Given the description of an element on the screen output the (x, y) to click on. 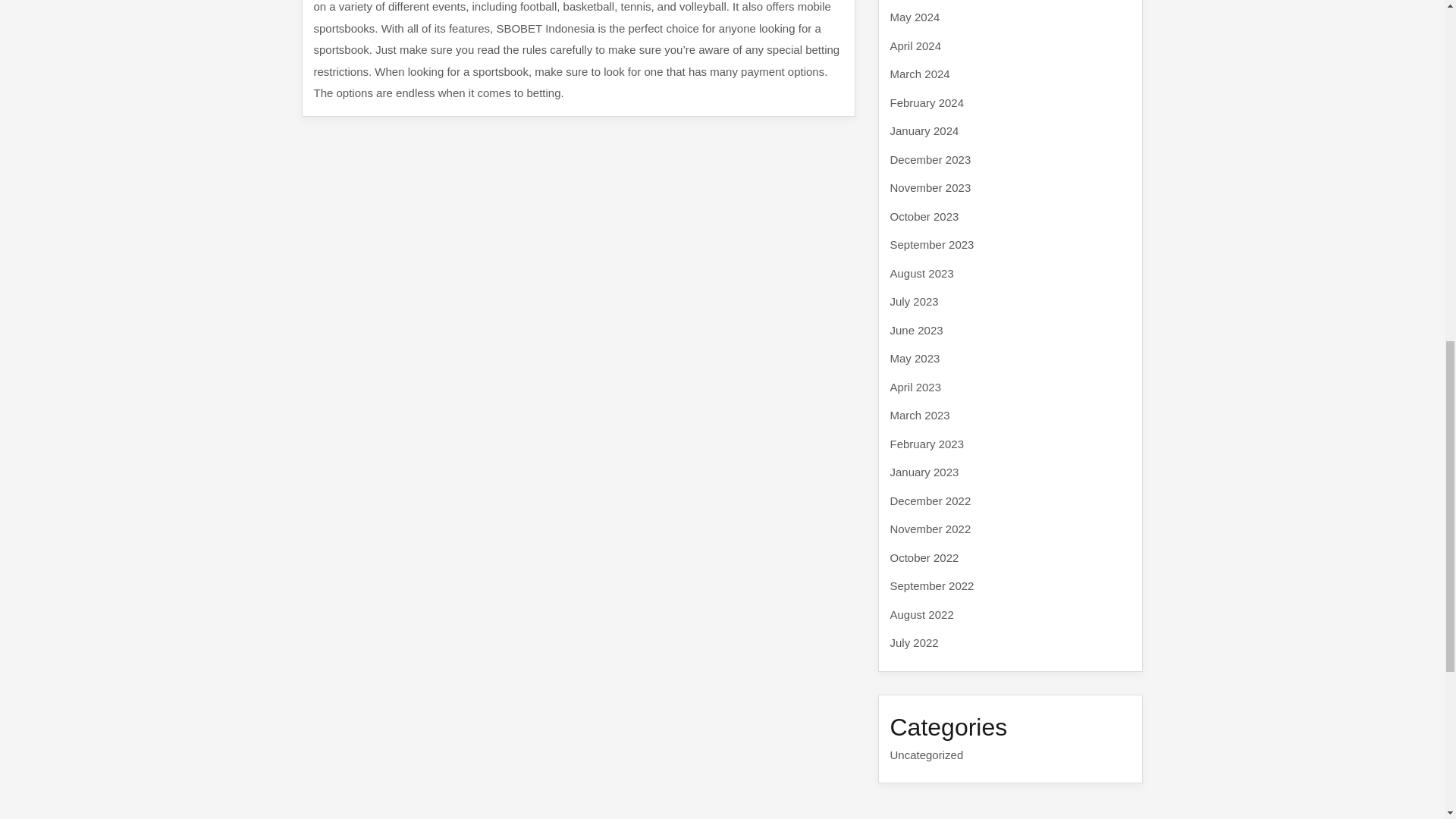
November 2023 (930, 187)
April 2023 (915, 386)
October 2022 (924, 556)
March 2024 (919, 73)
July 2023 (914, 300)
May 2024 (914, 16)
March 2023 (919, 414)
April 2024 (915, 45)
January 2024 (924, 130)
December 2022 (930, 500)
June 2023 (916, 328)
January 2023 (924, 472)
November 2022 (930, 528)
May 2023 (914, 358)
February 2023 (926, 442)
